Given the description of an element on the screen output the (x, y) to click on. 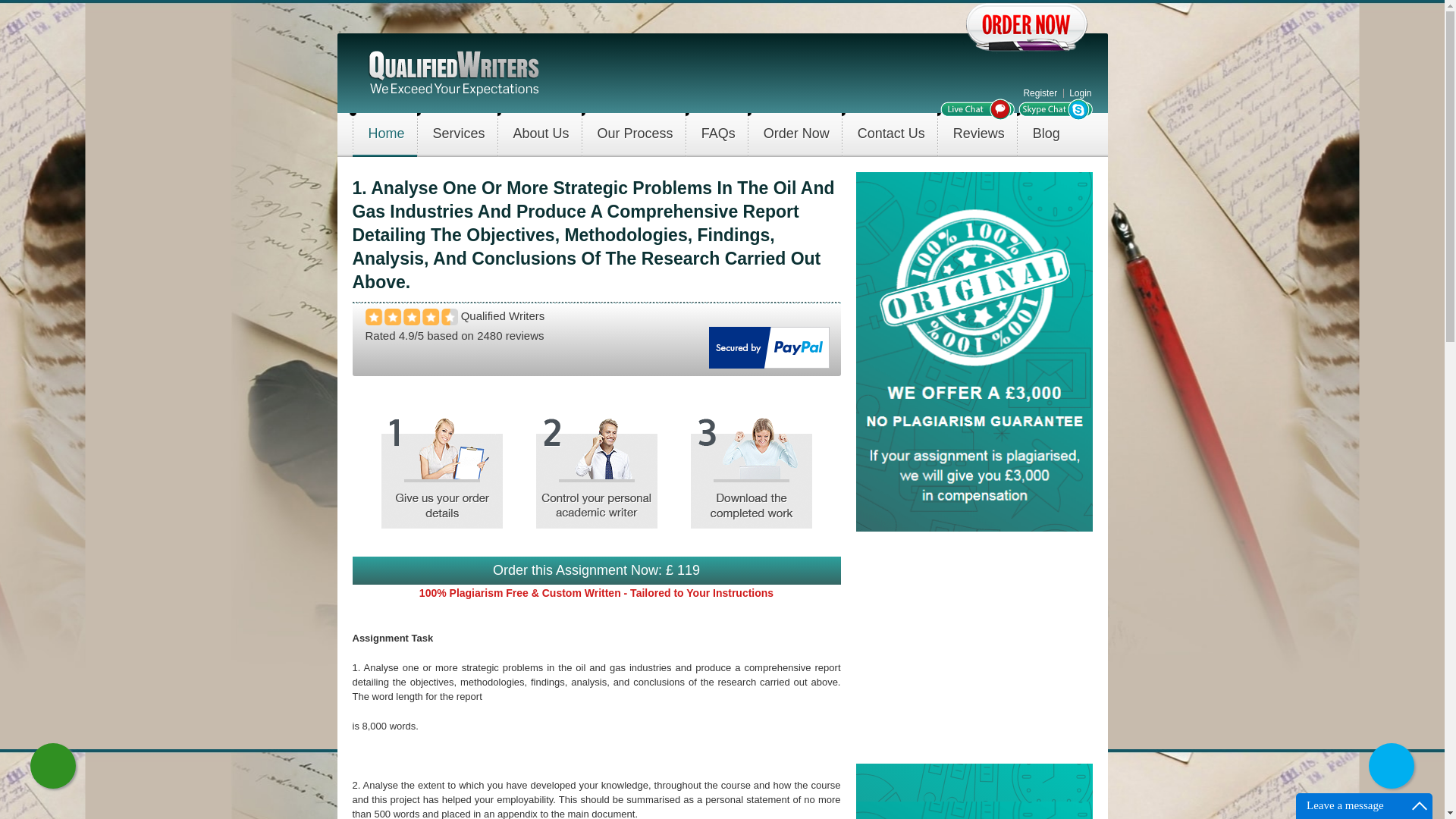
Blog (1045, 135)
Register (1040, 92)
About Us (540, 135)
Home (453, 71)
Login (1079, 92)
Order Now (796, 135)
Services (458, 135)
open chat (977, 109)
Contact Us (891, 135)
FAQs (718, 135)
Maximize (1419, 805)
Reviews (978, 135)
Home (386, 135)
Our Process (635, 135)
